Given the description of an element on the screen output the (x, y) to click on. 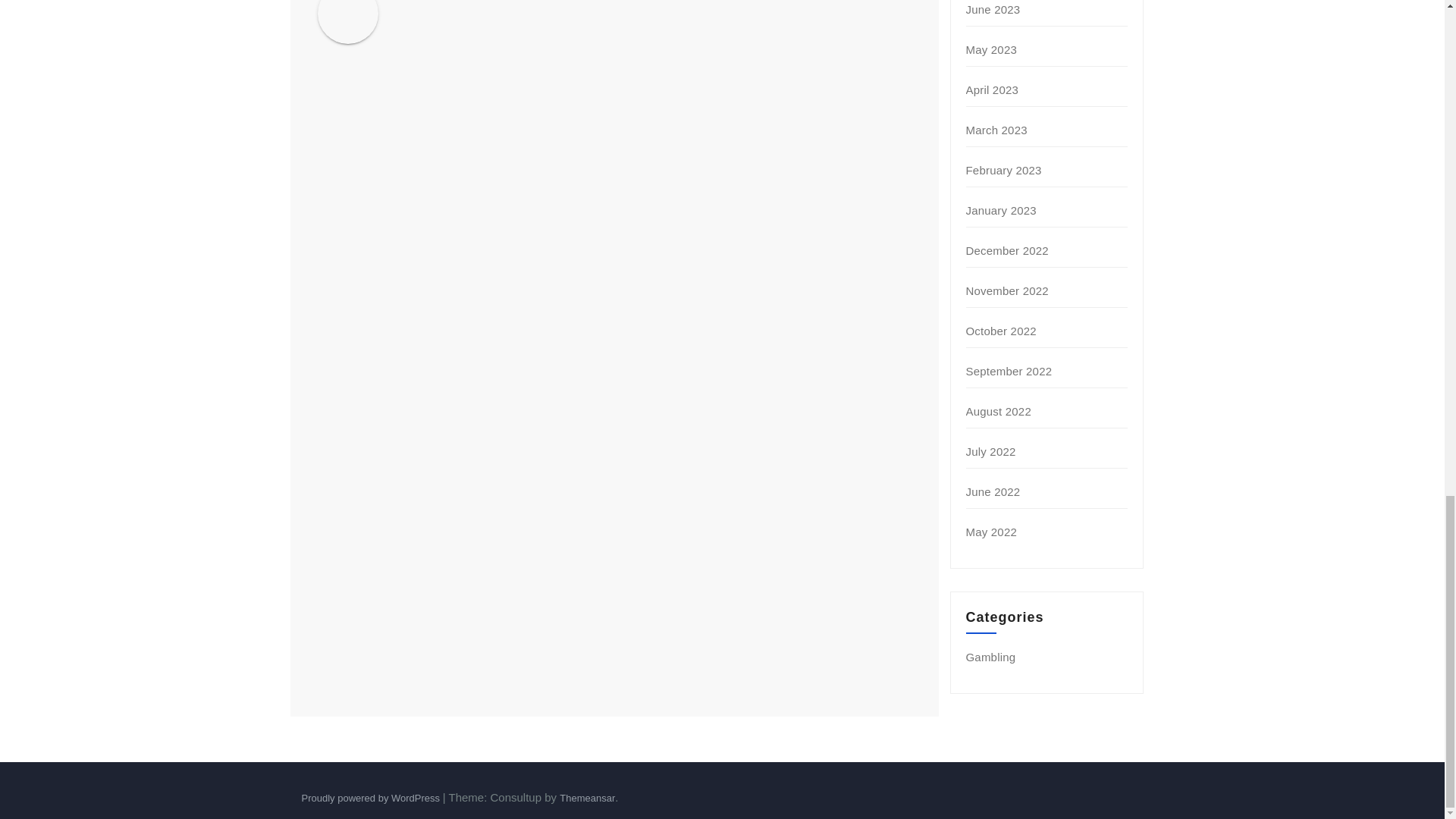
September 2022 (1009, 370)
July 2022 (991, 451)
Gambling (991, 656)
June 2023 (993, 9)
May 2023 (991, 49)
Proudly powered by WordPress (371, 797)
August 2022 (998, 410)
April 2023 (992, 89)
December 2022 (1007, 250)
February 2023 (1004, 169)
June 2022 (993, 491)
November 2022 (1007, 290)
January 2023 (1001, 210)
March 2023 (996, 129)
October 2022 (1001, 330)
